Given the description of an element on the screen output the (x, y) to click on. 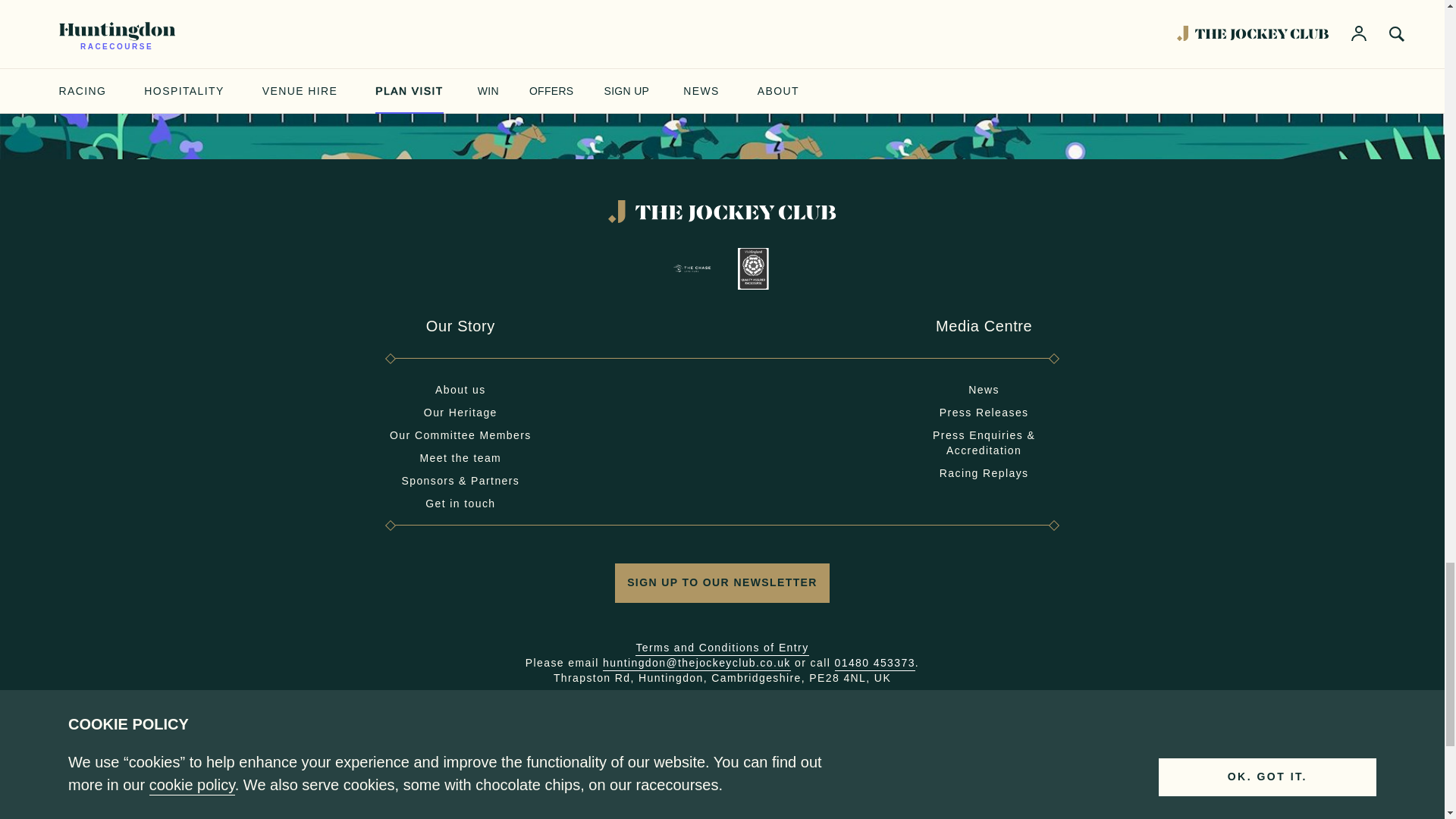
terms of entry (721, 648)
The Chase Care Home (691, 268)
Weatherbys (1355, 813)
Godolphin (764, 817)
The Chase Care Home (691, 269)
TrustATrader (1234, 813)
Gallagher (534, 813)
Email Huntingdon Racecourse (696, 663)
Call 01480 453373 (874, 663)
Close Brothers (432, 816)
Molson Coors (991, 813)
